Given the description of an element on the screen output the (x, y) to click on. 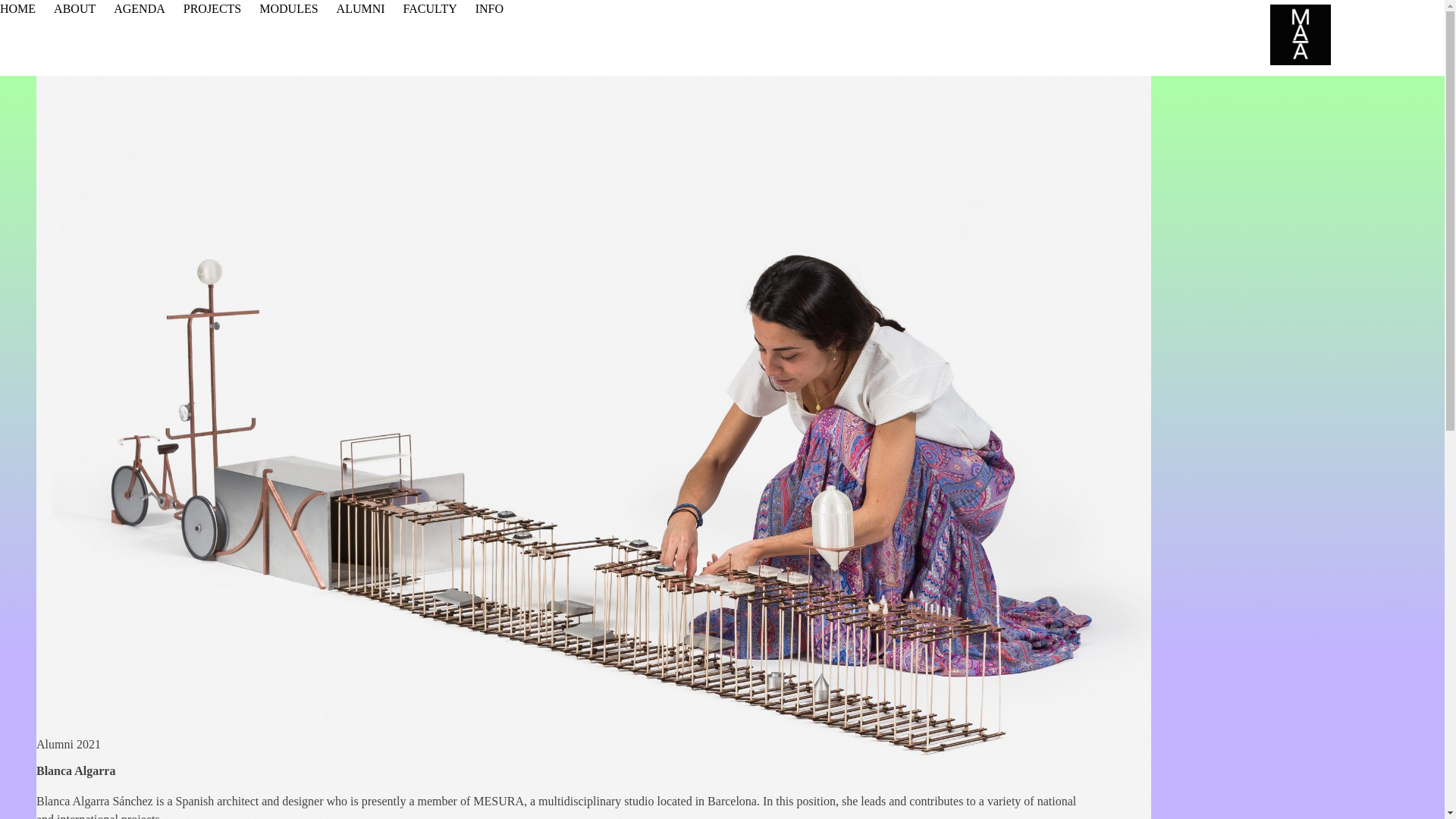
ALUMNI (360, 8)
AGENDA (139, 8)
FACULTY (430, 8)
MODULES (288, 8)
INFO (489, 8)
HOME (17, 8)
ABOUT (74, 8)
PROJECTS (212, 8)
